Given the description of an element on the screen output the (x, y) to click on. 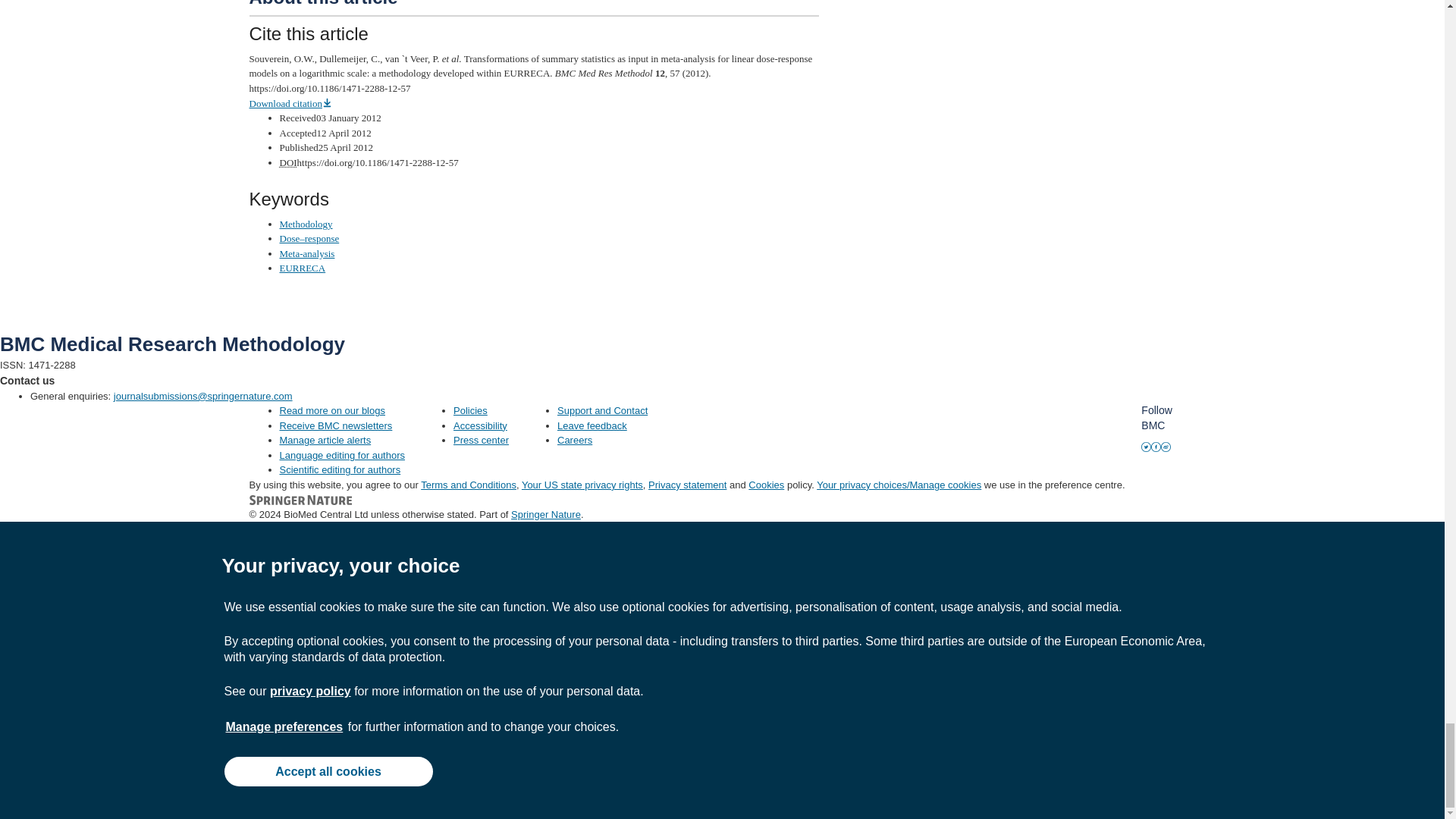
Digital Object Identifier (288, 162)
